Given the description of an element on the screen output the (x, y) to click on. 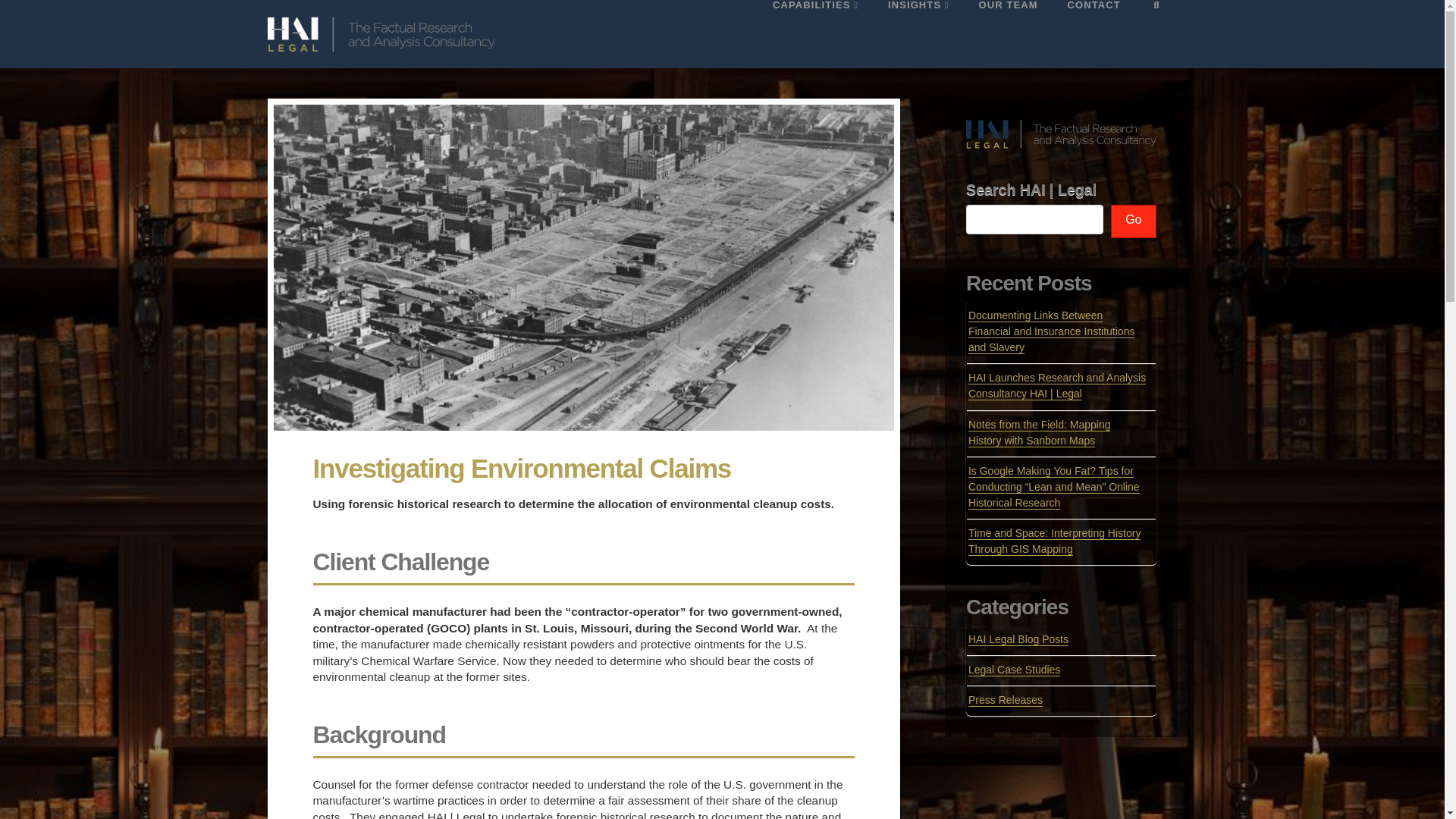
CONTACT (1093, 33)
Legal Case Studies (1013, 669)
Time and Space: Interpreting History Through GIS Mapping (1054, 541)
Notes from the Field: Mapping History with Sanborn Maps (1039, 432)
HAI Legal Blog Posts (1018, 639)
INSIGHTS (917, 33)
CAPABILITIES (814, 33)
OUR TEAM (1006, 33)
Go (1133, 221)
